Given the description of an element on the screen output the (x, y) to click on. 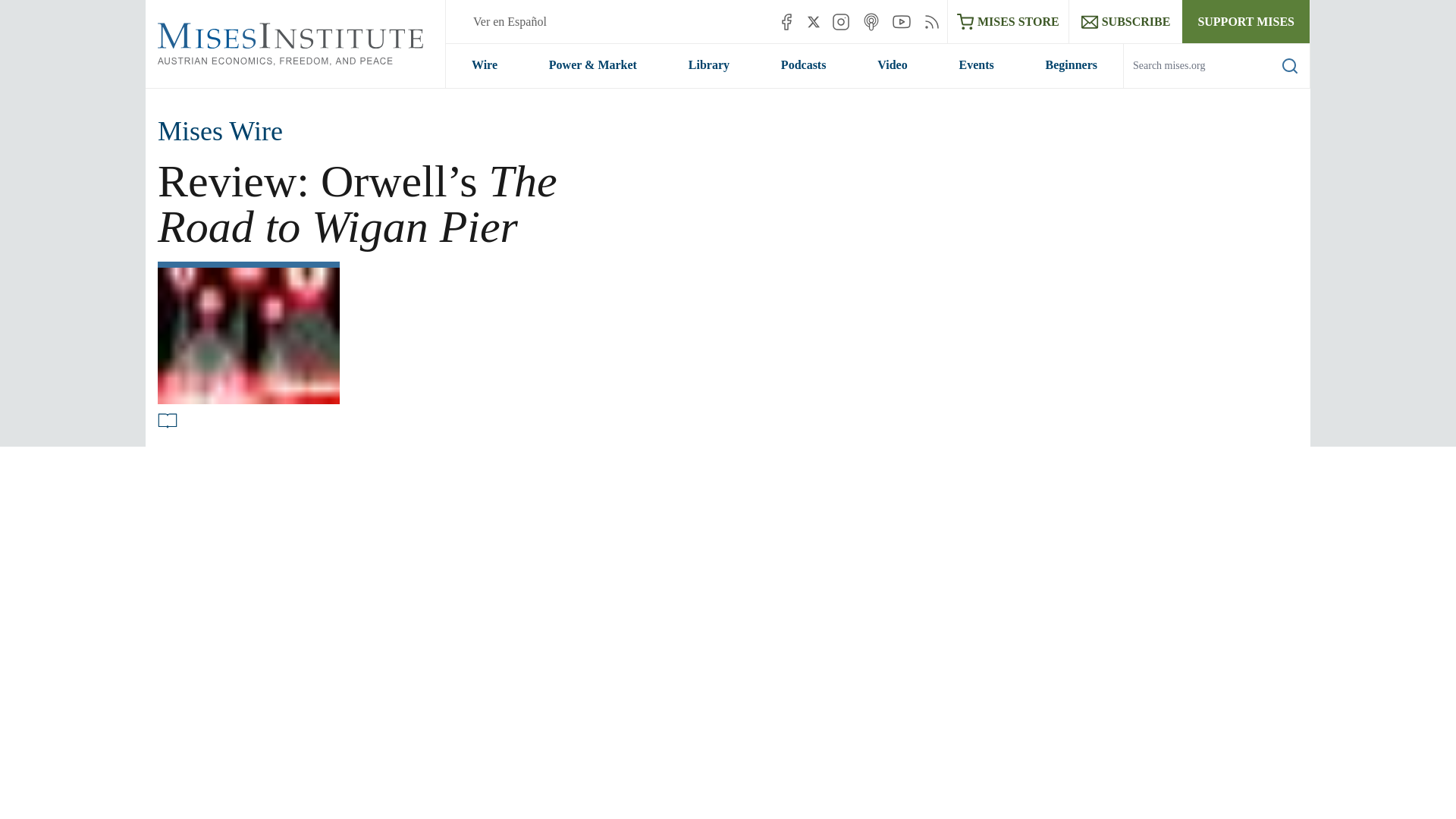
Mises itunes (870, 21)
SUPPORT MISES (1245, 21)
Wire (483, 65)
Mises Youtube (901, 21)
Events (976, 65)
Mises RSS feed (931, 21)
Mises Instagram (840, 21)
Submit (1278, 87)
Library (708, 65)
